Given the description of an element on the screen output the (x, y) to click on. 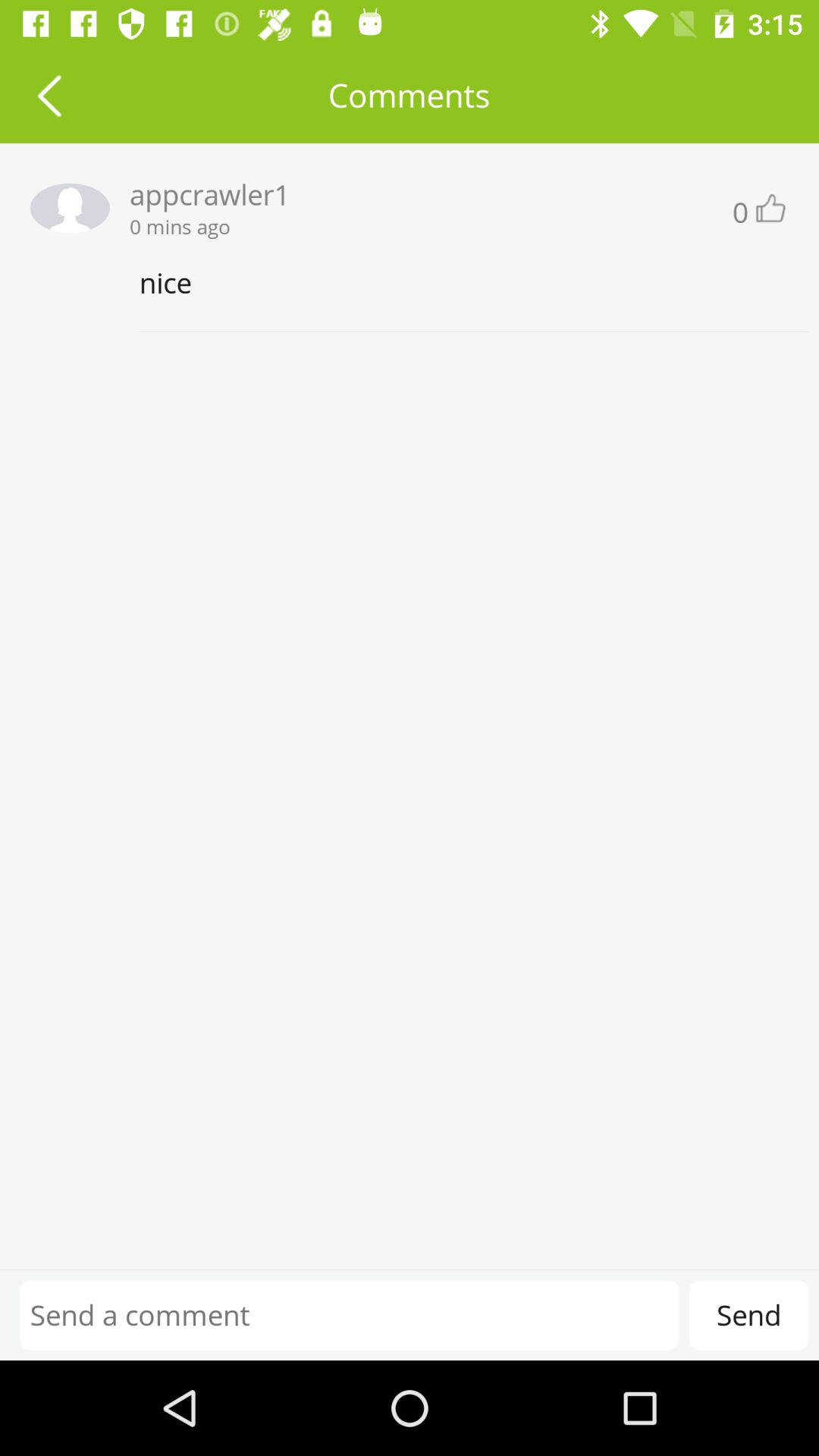
turn off the icon next to appcrawler1 (64, 208)
